Given the description of an element on the screen output the (x, y) to click on. 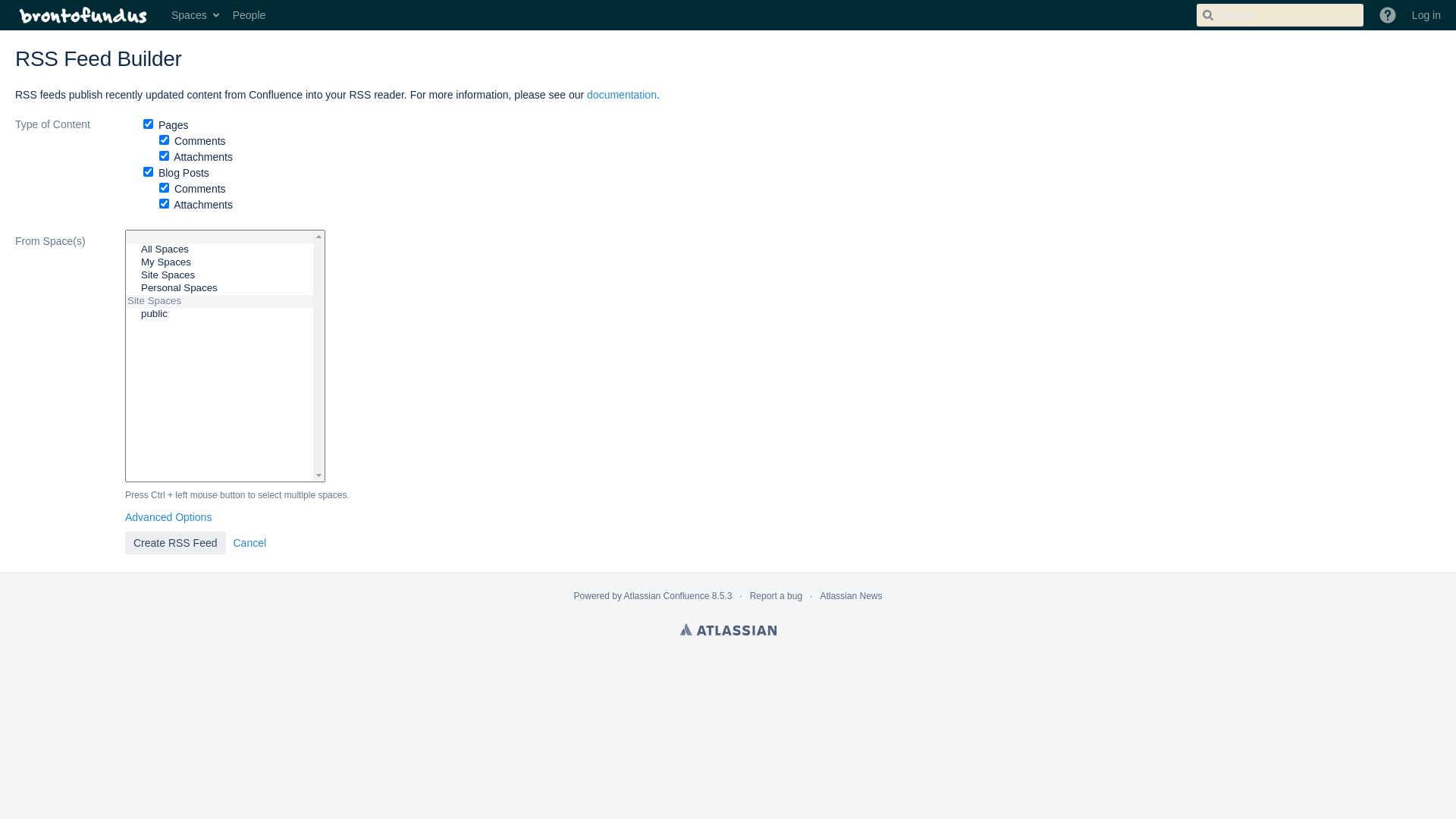
 (Type 'g' then 'g'OR '/') Element type: hover (1279, 14)
Atlassian Element type: text (727, 629)
Report a bug Element type: text (775, 595)
Help Element type: text (1387, 15)
Atlassian News Element type: text (850, 595)
Create RSS Feed Element type: text (175, 542)
documentation Element type: text (621, 94)
Spaces Element type: text (194, 15)
Atlassian Confluence Element type: text (666, 595)
Cancel Element type: text (249, 542)
Advanced Options Element type: text (168, 517)
Log in Element type: text (1426, 15)
People Element type: text (249, 15)
